Given the description of an element on the screen output the (x, y) to click on. 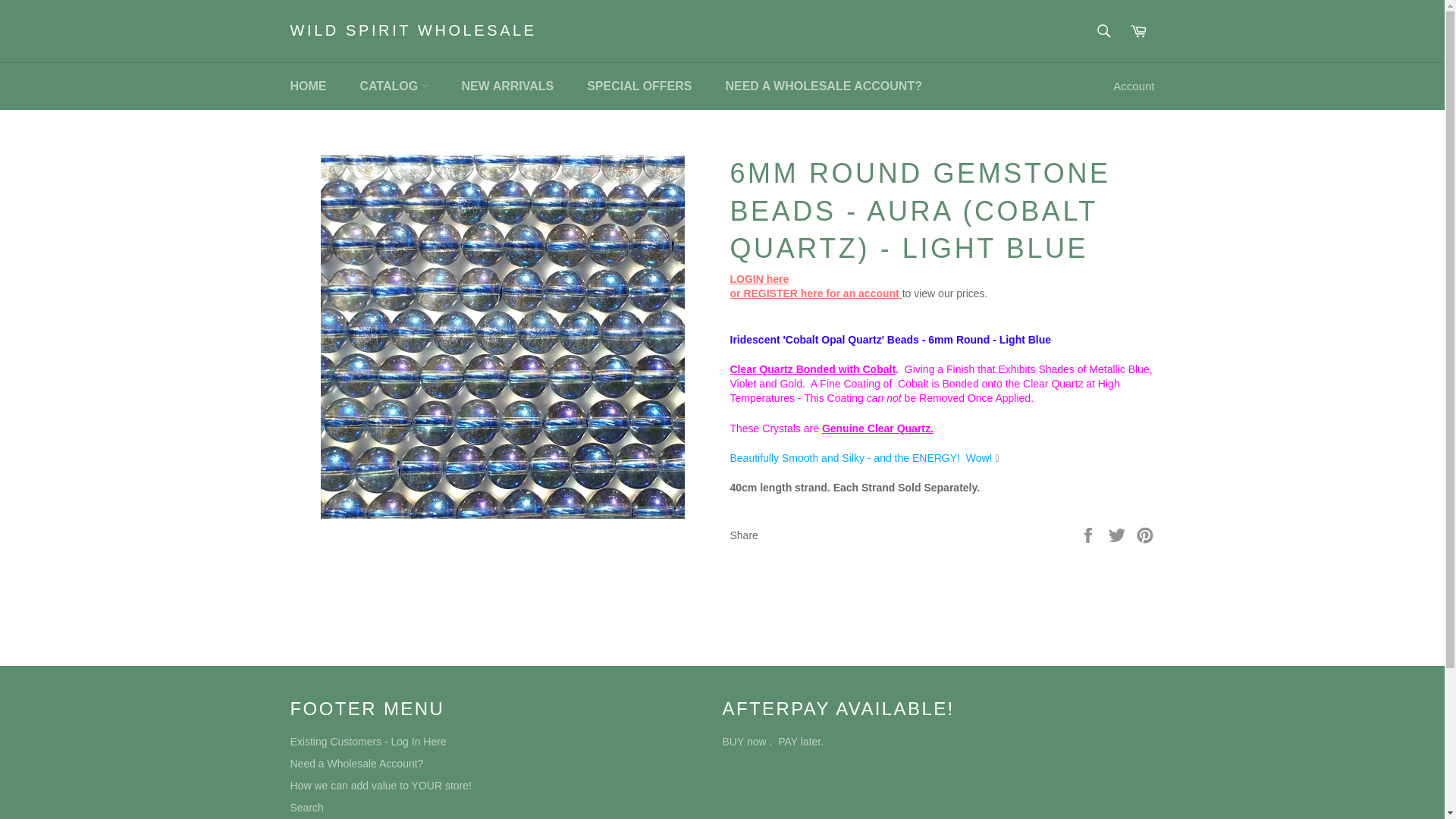
Pin on Pinterest (1144, 534)
Share on Facebook (1089, 534)
Tweet on Twitter (1118, 534)
